Given the description of an element on the screen output the (x, y) to click on. 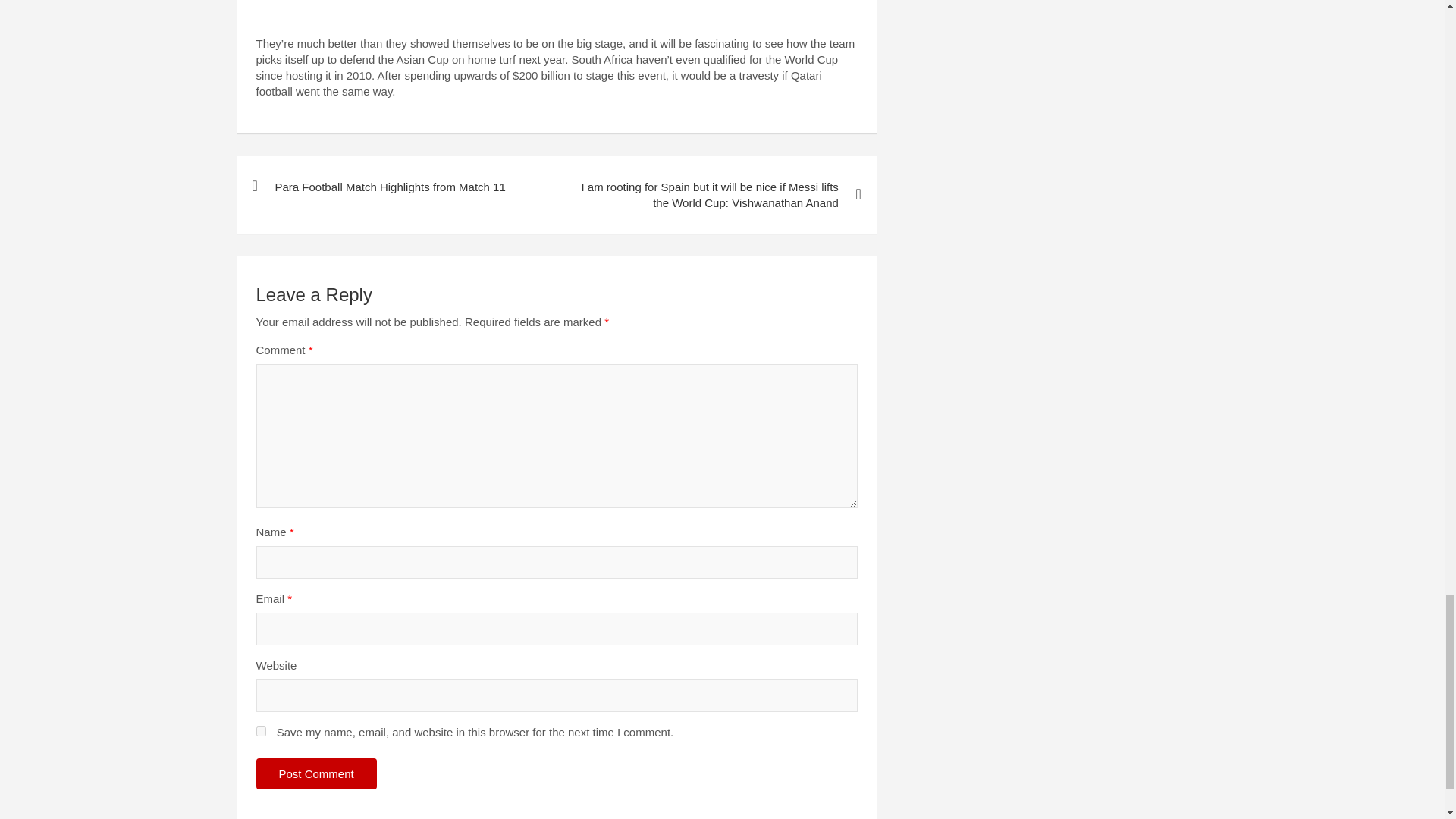
yes (261, 731)
Post Comment (316, 773)
